Given the description of an element on the screen output the (x, y) to click on. 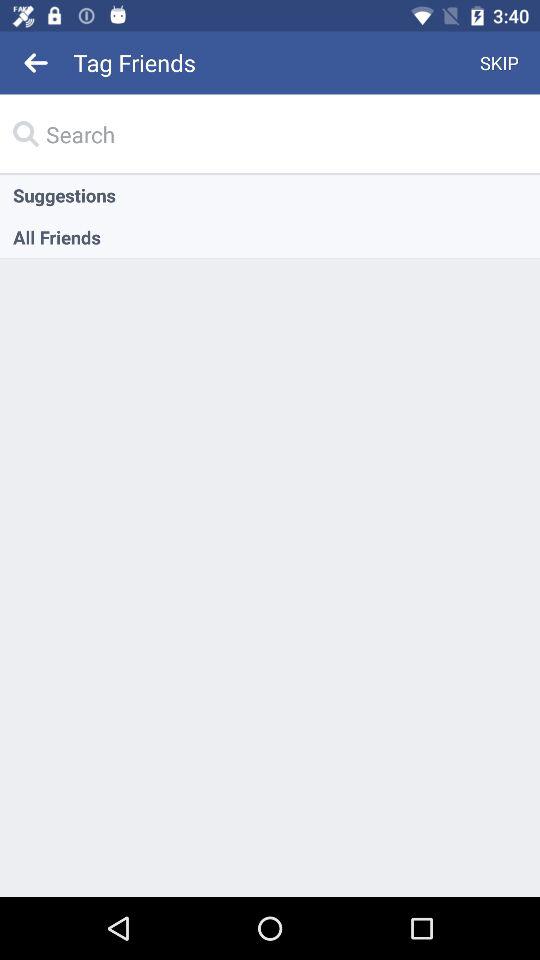
launch icon to the right of tag friends item (499, 62)
